Given the description of an element on the screen output the (x, y) to click on. 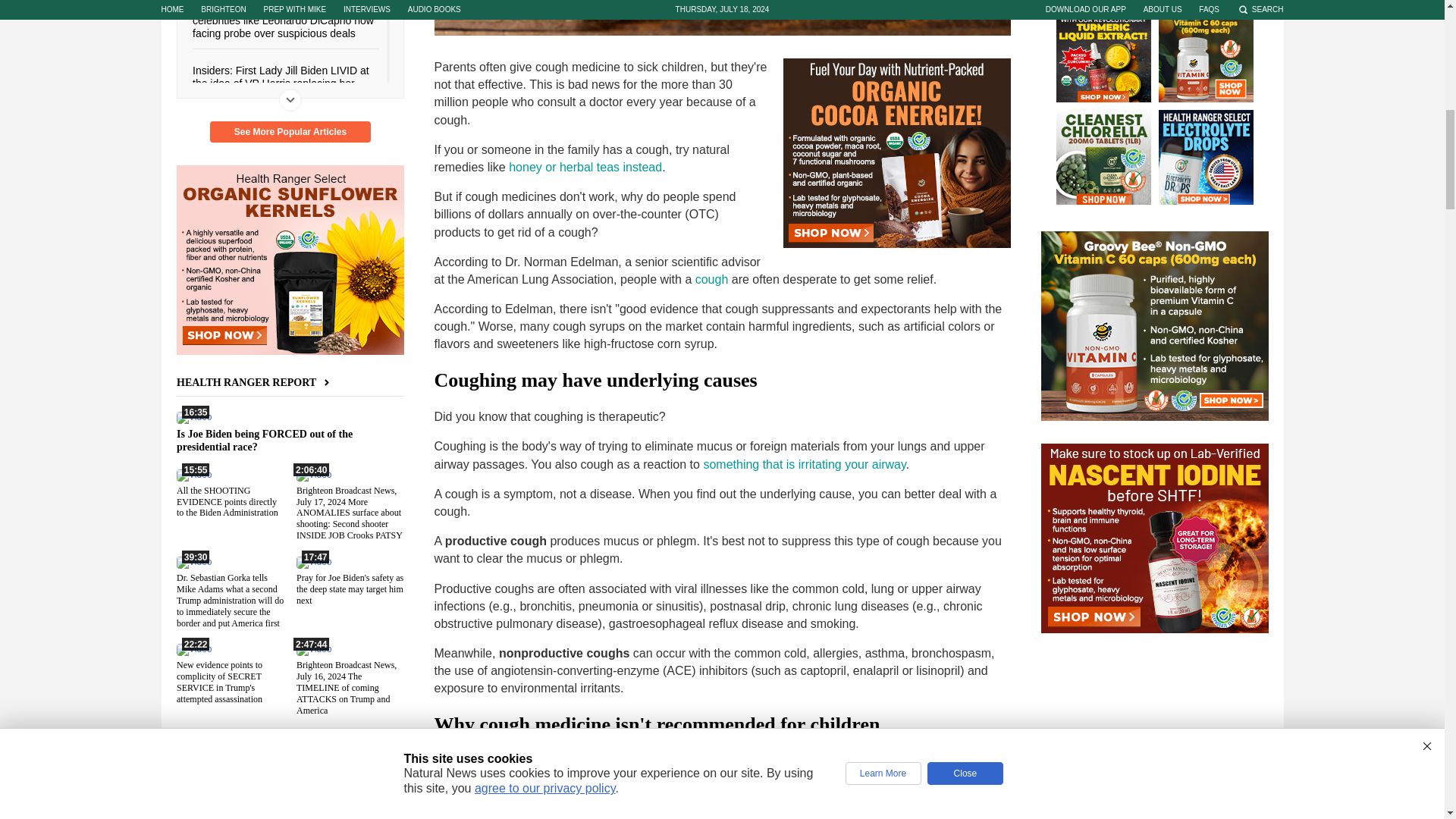
Scroll Down (290, 99)
